Given the description of an element on the screen output the (x, y) to click on. 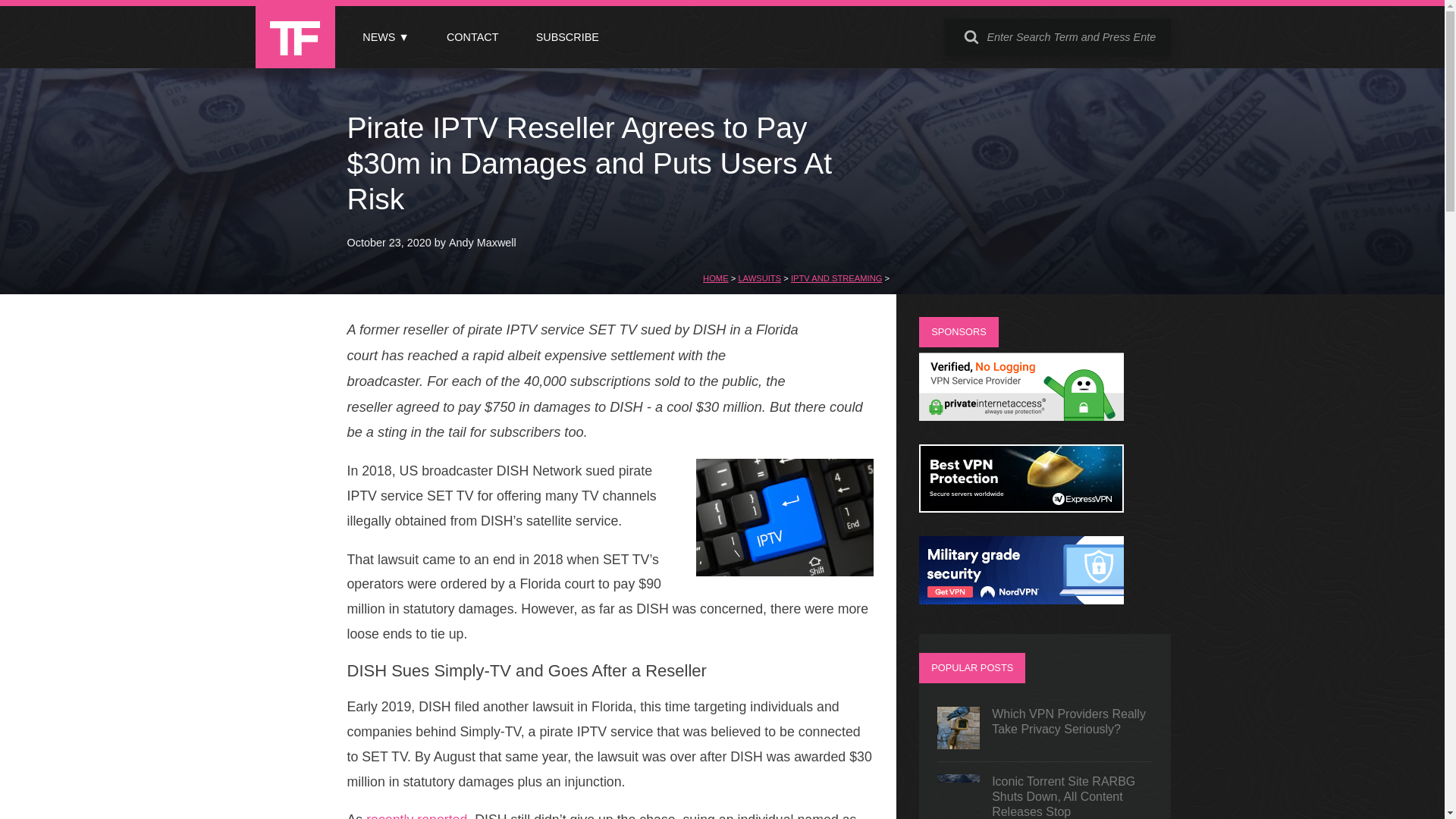
Which VPN Providers Really Take Privacy Seriously? (1045, 727)
ExpressVPN (1021, 508)
LAWSUITS (759, 277)
Go to TorrentFreak. (716, 277)
Andy Maxwell (482, 242)
Private Internet Access (1021, 416)
HOME (716, 277)
IPTV AND STREAMING (836, 277)
Go to the IPTV and Streaming category archives. (836, 277)
